Given the description of an element on the screen output the (x, y) to click on. 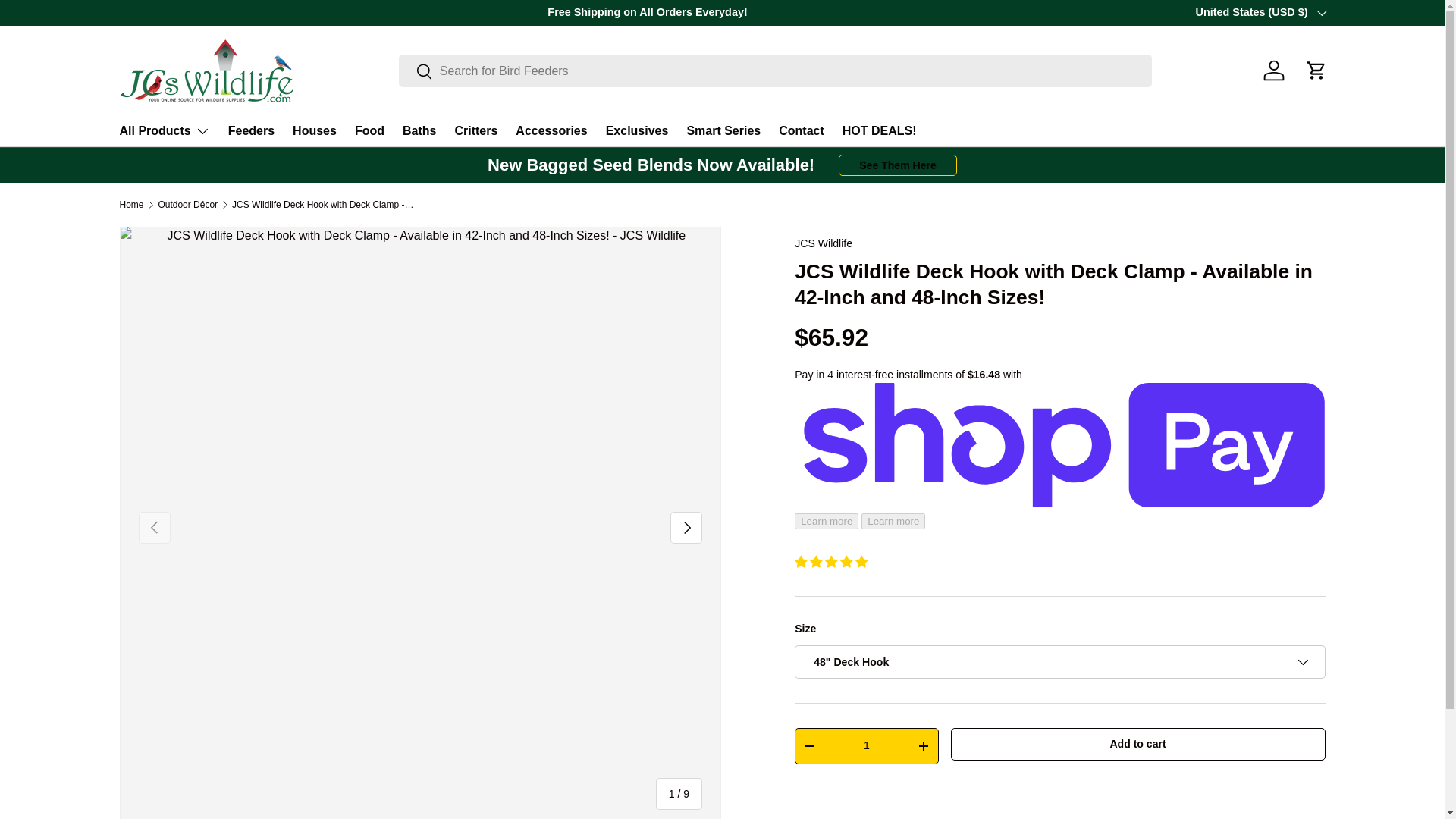
Critters (475, 130)
Houses (314, 130)
Feeders (251, 130)
Exclusives (636, 130)
Smart Series (722, 130)
Baths (419, 130)
Search (415, 72)
See Them Here (897, 165)
All Products (164, 131)
Food (369, 130)
HOT DEALS! (880, 130)
Contact (801, 130)
Log in (1273, 70)
Home (131, 204)
Accessories (550, 130)
